Given the description of an element on the screen output the (x, y) to click on. 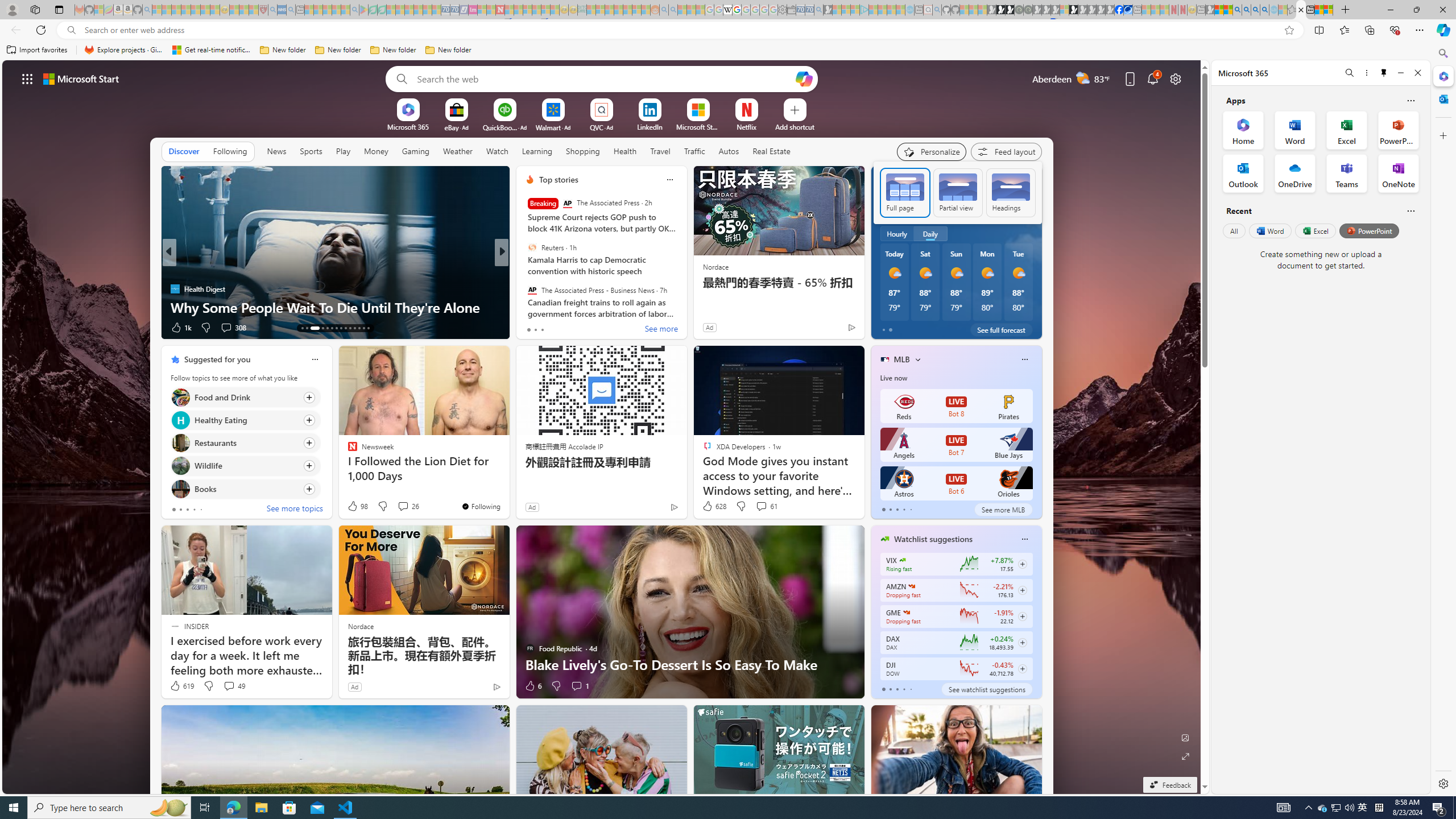
Why Some People Wait To Die Until They're Alone (335, 307)
Health (624, 151)
619 Like (181, 685)
See more MLB (1003, 509)
How to clear the cache on your iPhone (and why you should) (684, 298)
Target page - Wikipedia (726, 9)
Close Customize pane (1442, 135)
CBOE Market Volatility Index (901, 559)
Reuters (532, 247)
